Given the description of an element on the screen output the (x, y) to click on. 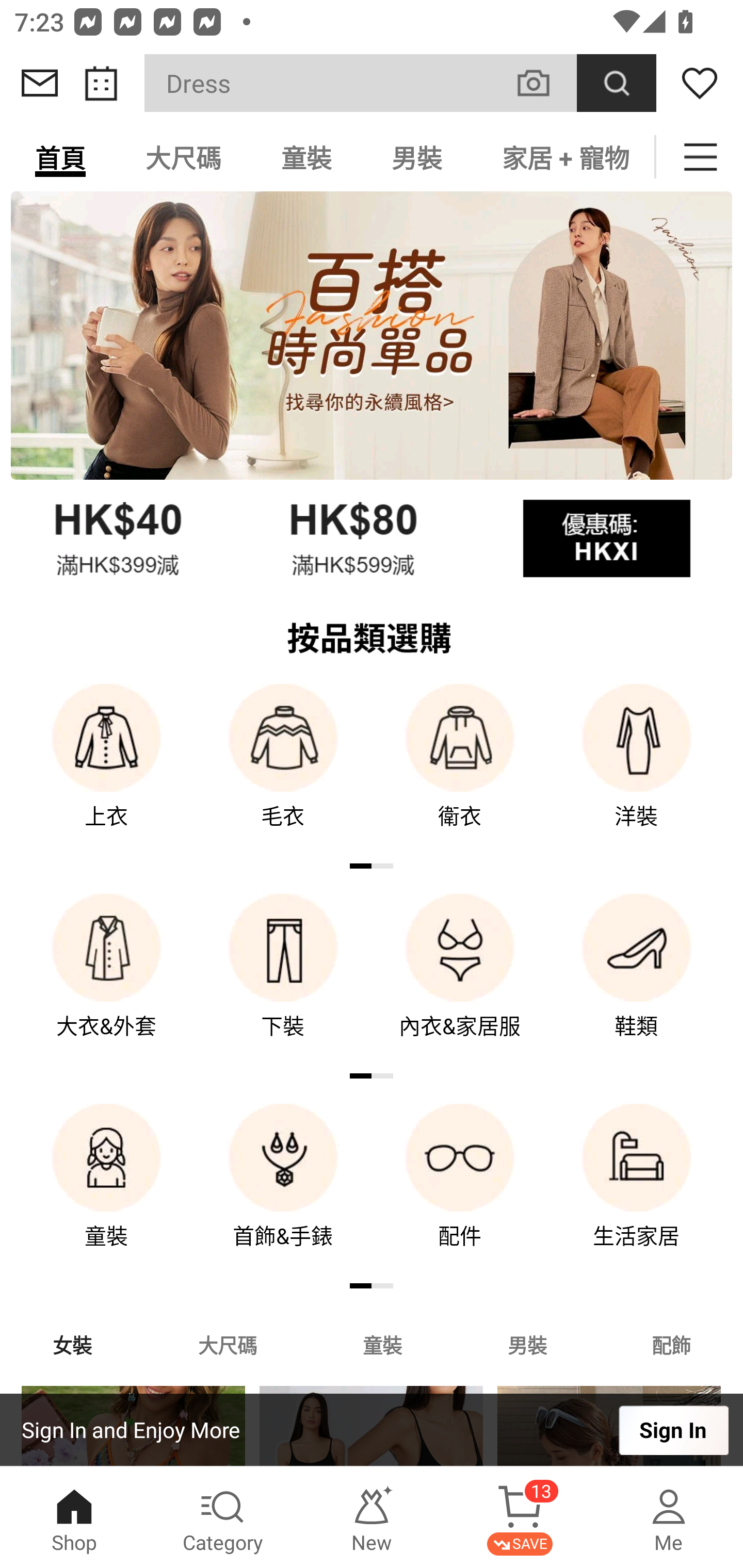
Wishlist (699, 82)
VISUAL SEARCH (543, 82)
首頁 (60, 156)
大尺碼 (183, 156)
童裝 (306, 156)
男裝 (416, 156)
家居 + 寵物 (563, 156)
上衣 (105, 769)
毛衣 (282, 769)
衛衣 (459, 769)
洋裝 (636, 769)
大衣&外套 (105, 979)
下裝 (282, 979)
內衣&家居服 (459, 979)
鞋類 (636, 979)
童裝 (105, 1189)
首飾&手錶 (282, 1189)
配件 (459, 1189)
生活家居 (636, 1189)
女裝 (72, 1344)
大尺碼 (226, 1344)
童裝 (381, 1344)
男裝 (527, 1344)
配飾 (671, 1344)
Sign In and Enjoy More Sign In (371, 1429)
Category (222, 1517)
New (371, 1517)
Cart 13 SAVE (519, 1517)
Me (668, 1517)
